Given the description of an element on the screen output the (x, y) to click on. 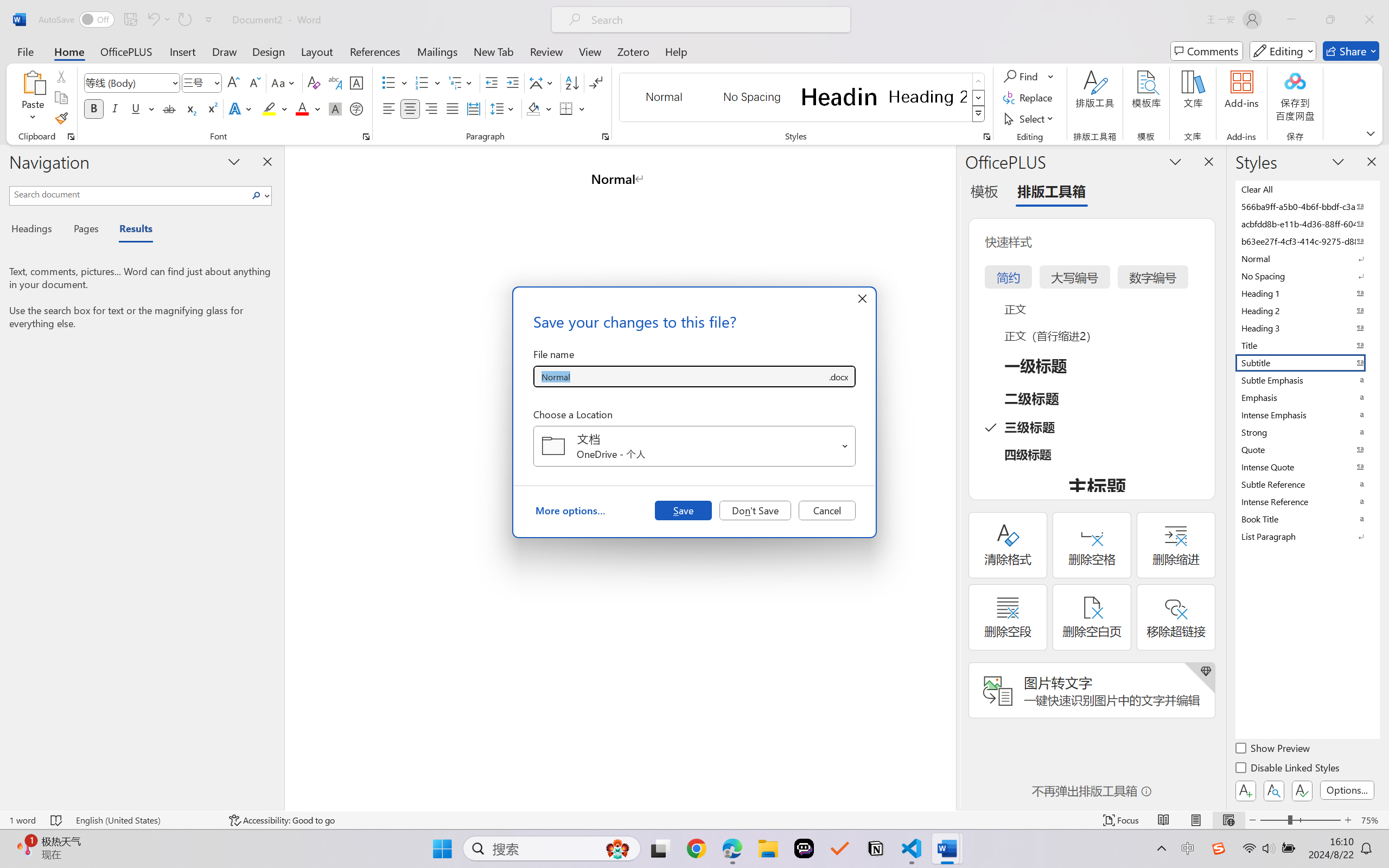
AutomationID: DynamicSearchBoxGleamImage (617, 848)
Clear Formatting (313, 82)
File name (680, 376)
Insert (182, 51)
acbfdd8b-e11b-4d36-88ff-6049b138f862 (1306, 223)
Character Border (356, 82)
Paste (33, 81)
Multilevel List (461, 82)
Mode (1283, 50)
Undo Style (152, 19)
